Given the description of an element on the screen output the (x, y) to click on. 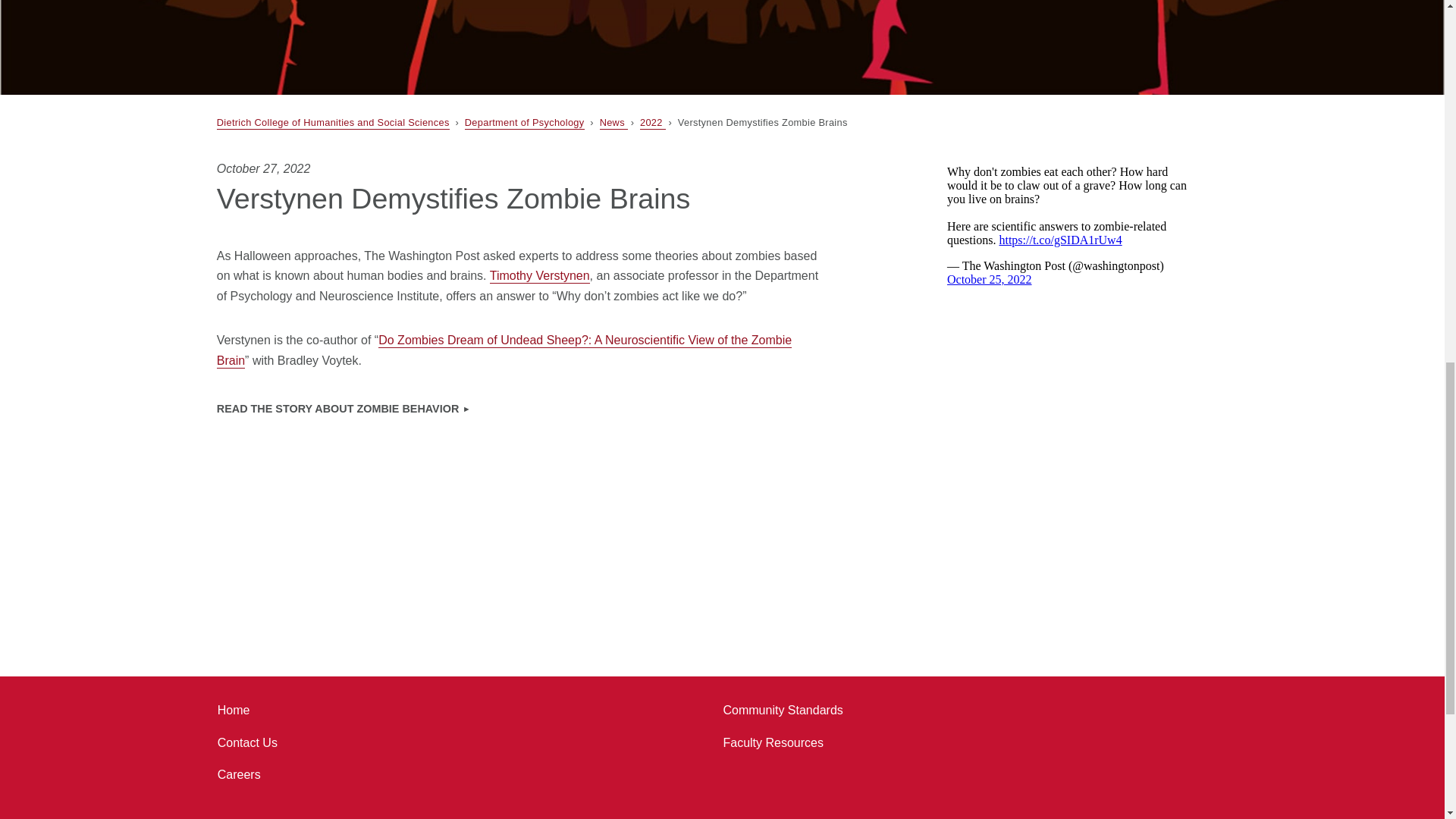
Community Standards (782, 710)
Careers (238, 775)
Dietrich College of Humanities and Social Sciences (332, 123)
2022 (652, 123)
News (613, 123)
Department of Psychology (524, 123)
Home (233, 710)
Contact Us (247, 743)
READ THE STORY ABOUT ZOMBIE BEHAVIOR (343, 409)
Faculty Resources (773, 743)
Timothy Verstynen (539, 276)
